Given the description of an element on the screen output the (x, y) to click on. 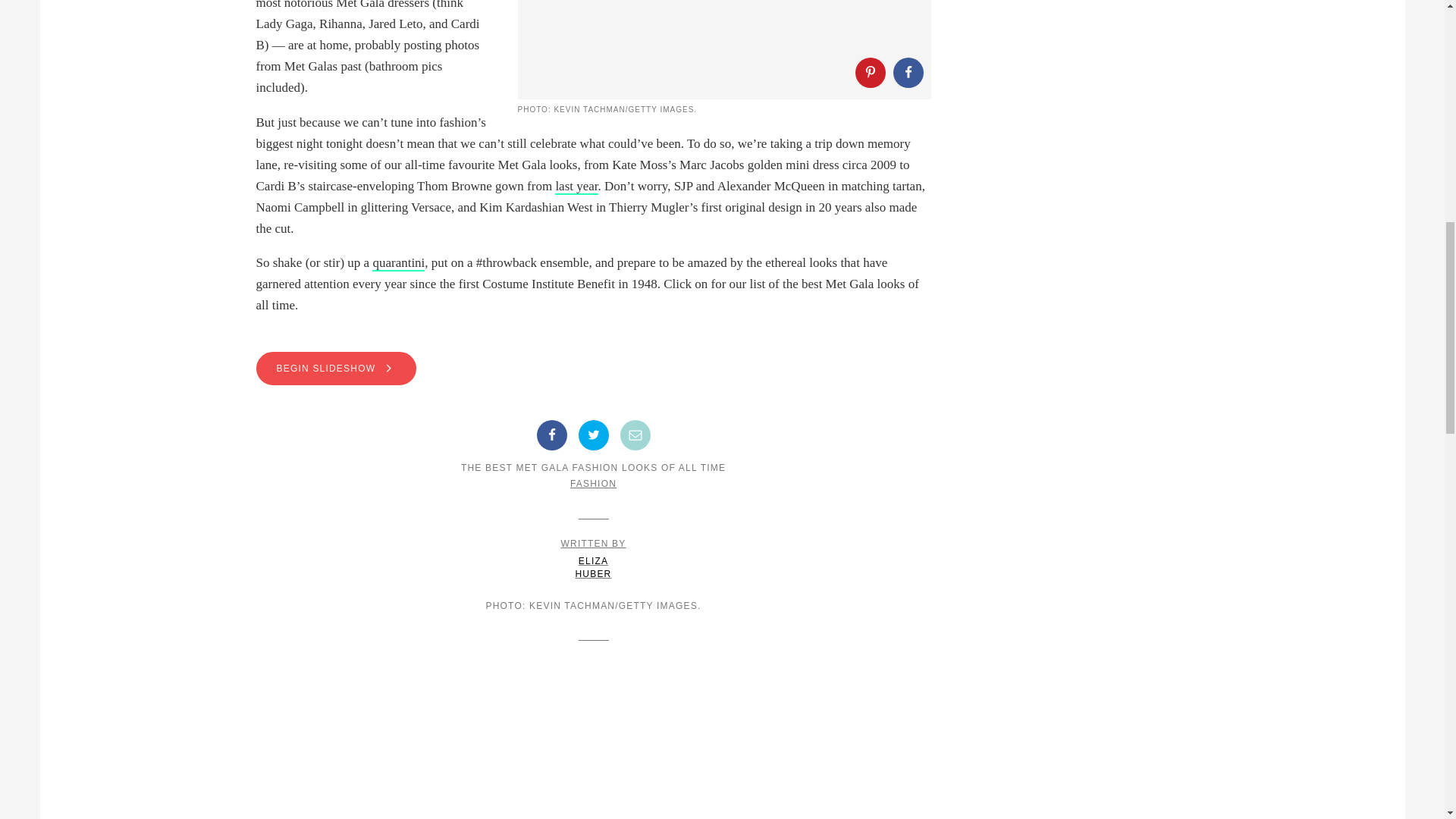
Share on Twitter (593, 435)
BEGIN SLIDESHOW (336, 368)
Share by Email (635, 435)
FASHION (592, 483)
BEGIN SLIDESHOW (594, 558)
last year (593, 368)
Share on Pinterest (575, 186)
quarantini (870, 72)
